Given the description of an element on the screen output the (x, y) to click on. 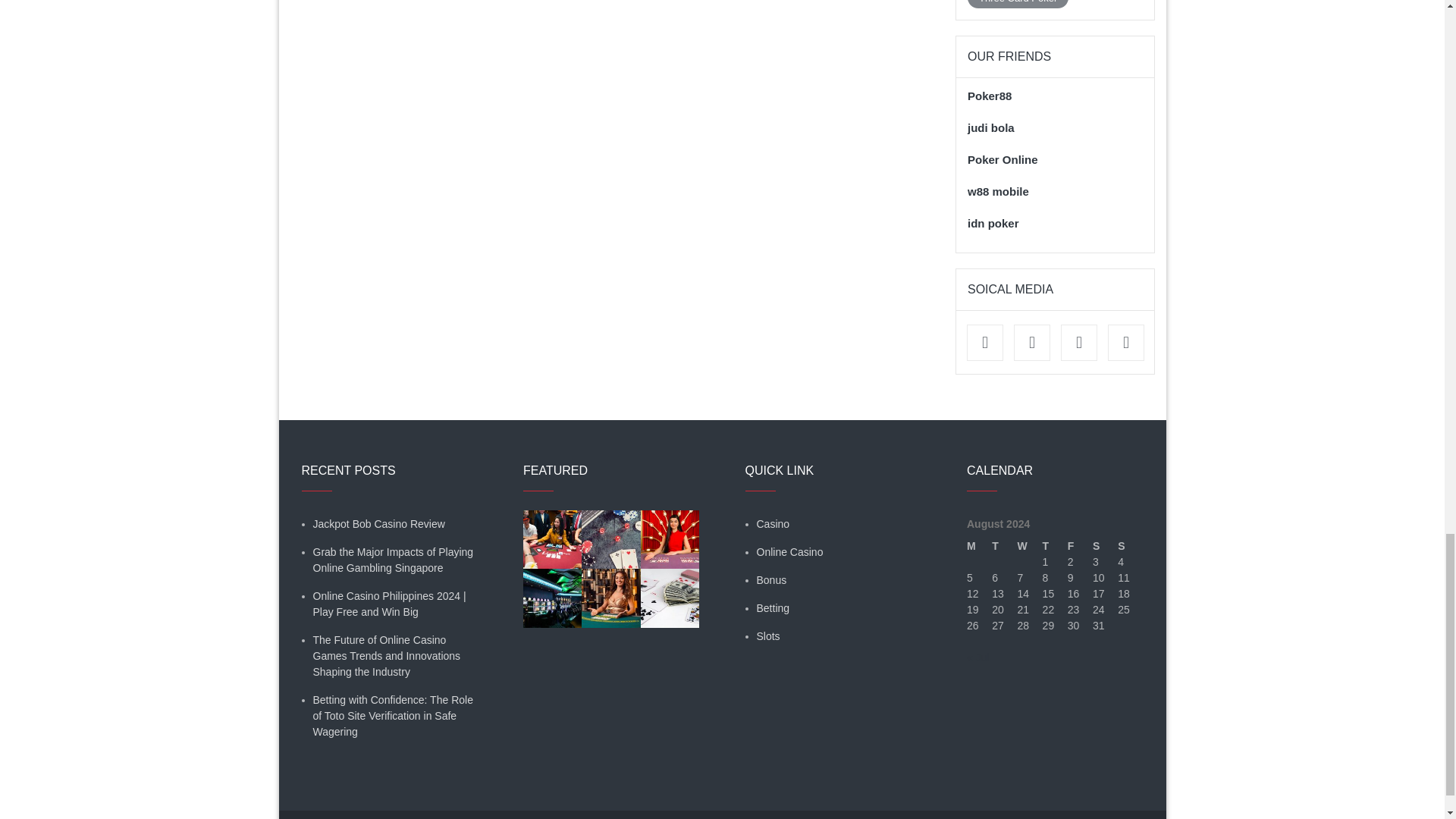
Thursday (1054, 546)
Sunday (1130, 546)
Tuesday (1003, 546)
Friday (1080, 546)
Monday (978, 546)
Saturday (1105, 546)
Wednesday (1029, 546)
